Given the description of an element on the screen output the (x, y) to click on. 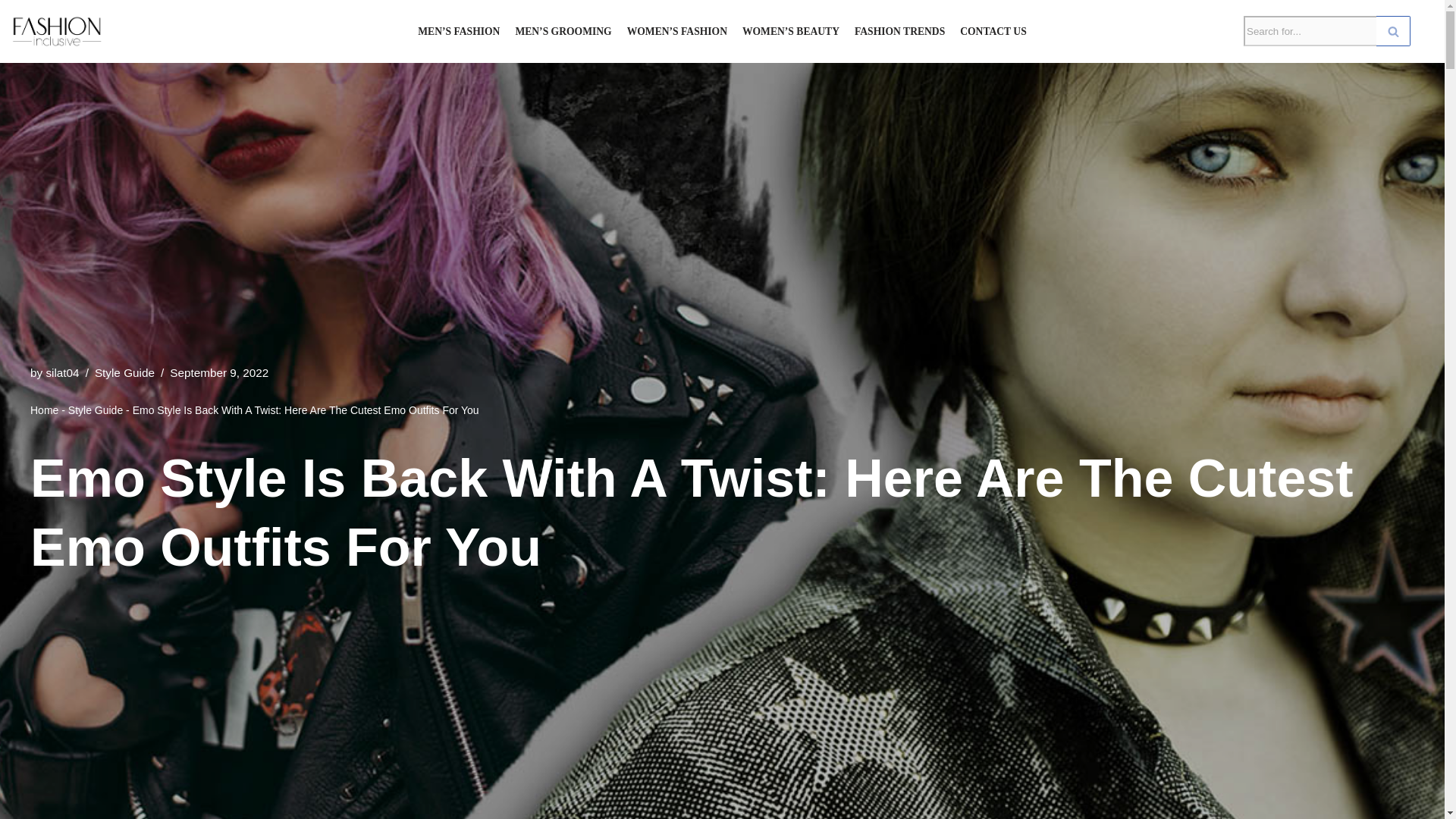
CONTACT US (992, 31)
Home (44, 410)
Skip to content (11, 31)
Posts by silat04 (61, 372)
FASHION TRENDS (899, 31)
Fashion Inclusive (56, 31)
Style Guide (124, 372)
Style Guide (95, 410)
silat04 (61, 372)
